Given the description of an element on the screen output the (x, y) to click on. 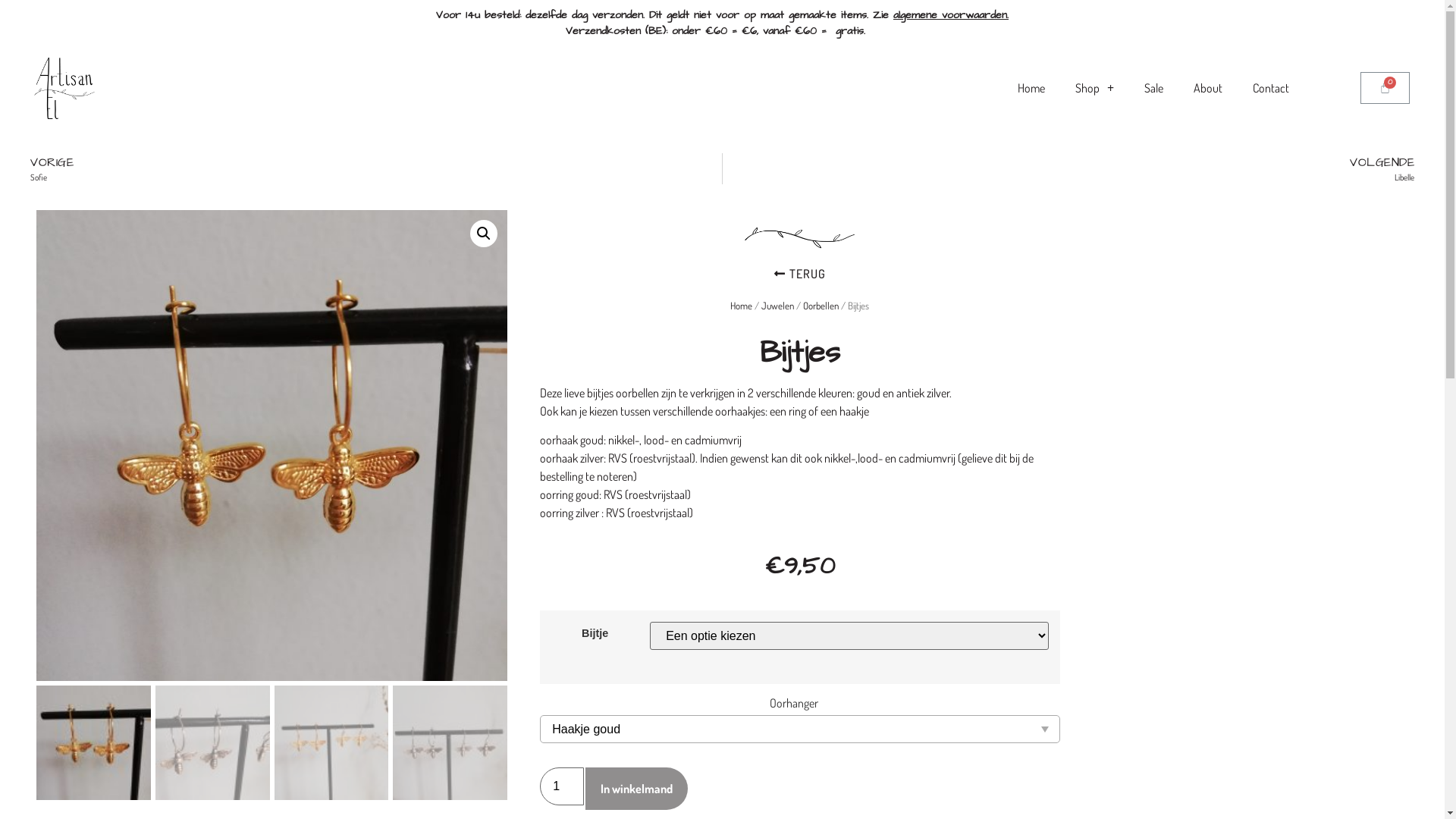
VORIGE
Sofie Element type: text (375, 168)
Shop Element type: text (1094, 87)
About Element type: text (1207, 87)
Contact Element type: text (1270, 87)
Sale Element type: text (1153, 87)
VOLGENDE
Libelle Element type: text (1068, 168)
In winkelmand Element type: text (636, 788)
Bijtje goud2 Element type: hover (271, 445)
algemene voorwaarden Element type: text (950, 14)
Juwelen Element type: text (777, 305)
Home Element type: text (1031, 87)
TERUG Element type: text (799, 273)
Home Element type: text (741, 305)
Bijtje zilver2 Element type: hover (742, 445)
Aantal Element type: hover (561, 786)
Oorbellen Element type: text (820, 305)
